Given the description of an element on the screen output the (x, y) to click on. 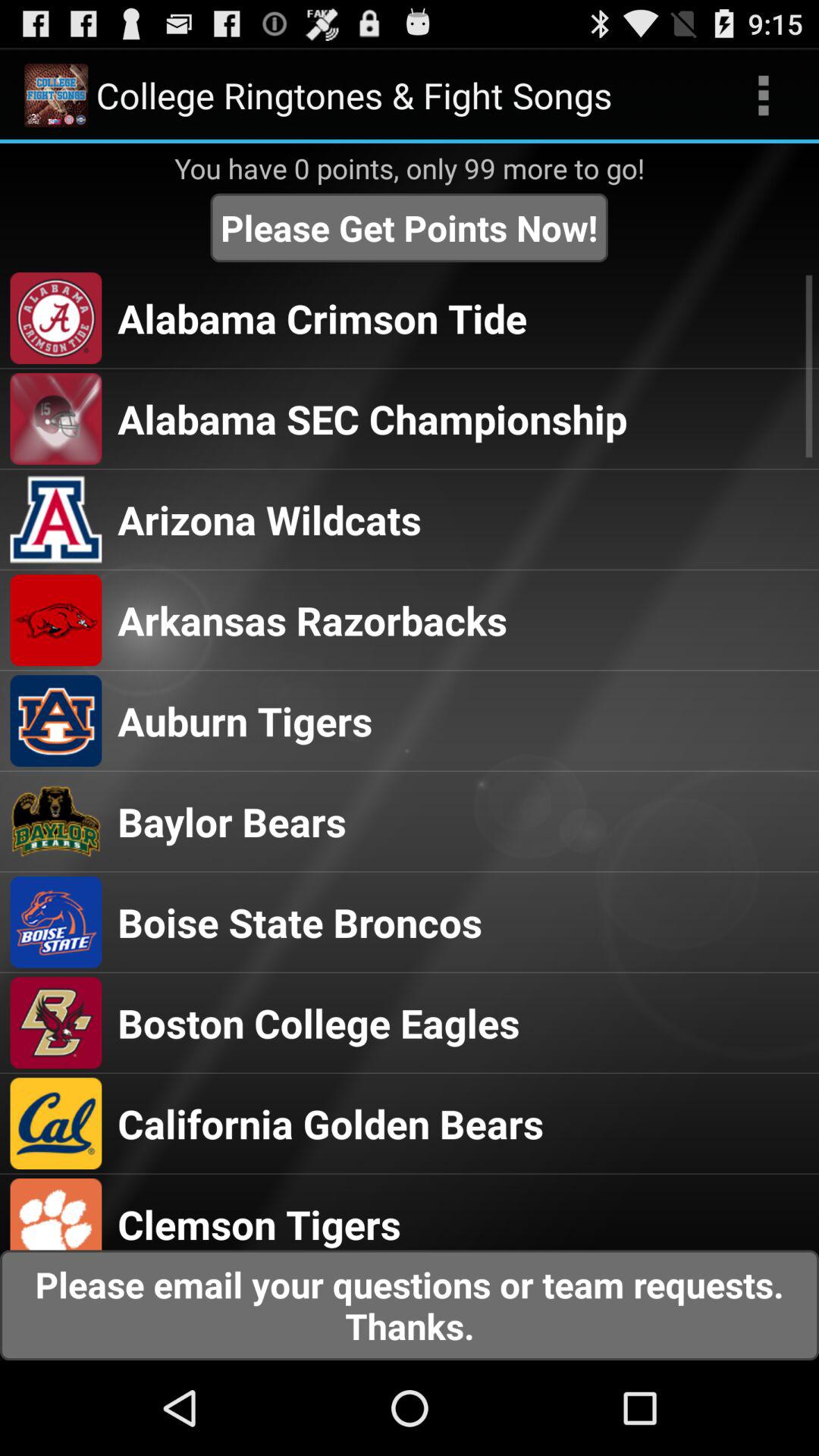
turn on baylor bears icon (231, 821)
